Given the description of an element on the screen output the (x, y) to click on. 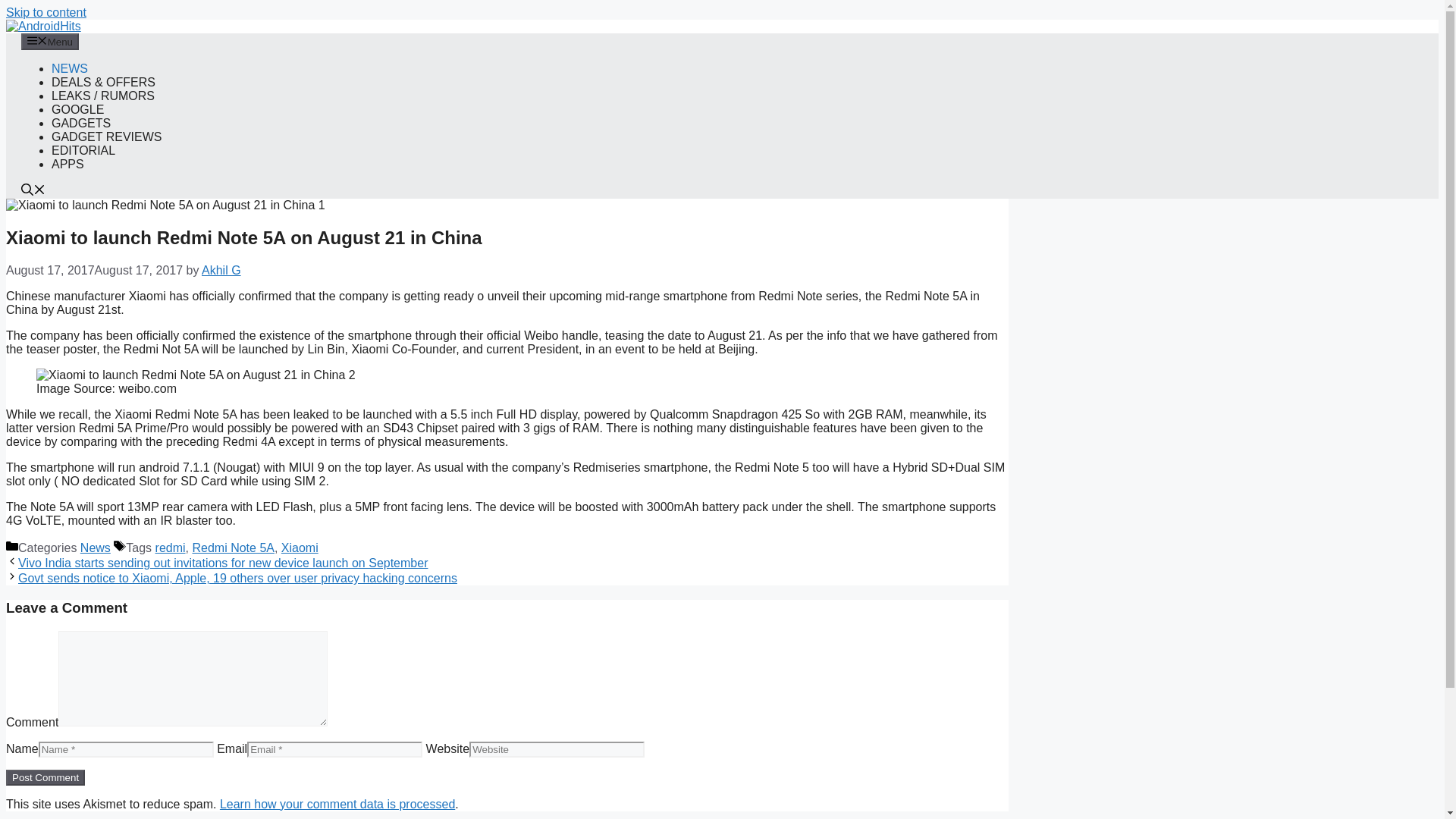
EDITORIAL (82, 150)
Redmi Note 5A (233, 547)
Menu (49, 41)
redmi (170, 547)
GOOGLE (76, 109)
Learn how your comment data is processed (336, 803)
Xiaomi (299, 547)
Xiaomi to launch Redmi Note 5A on August 21 in China 1 (164, 205)
GADGETS (80, 123)
Xiaomi to launch Redmi Note 5A on August 21 in China 2 (195, 375)
GADGET REVIEWS (105, 136)
APPS (67, 164)
Post Comment (44, 777)
